Given the description of an element on the screen output the (x, y) to click on. 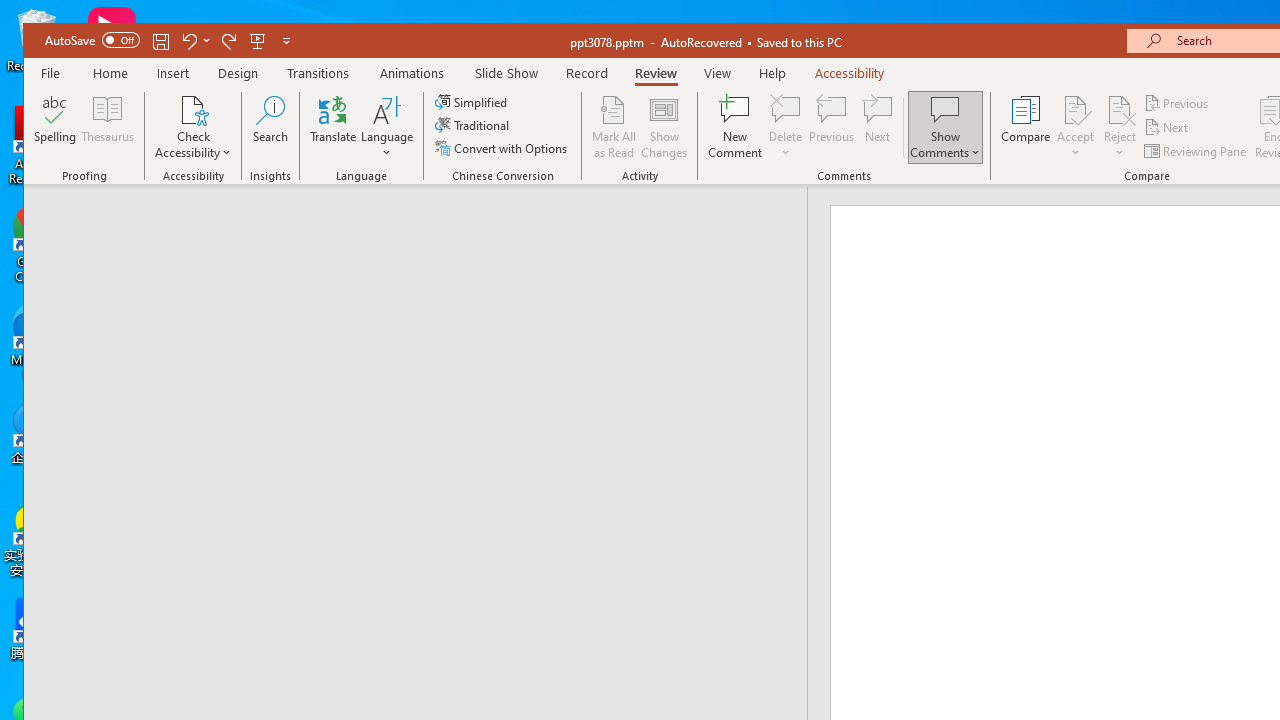
Convert with Options... (502, 147)
Delete (785, 127)
Review (655, 73)
Compare (1025, 127)
Language (387, 127)
Reviewing Pane (1196, 150)
Redo (229, 40)
Delete (785, 109)
Simplified (473, 101)
Next (1167, 126)
Insert (173, 73)
Design (237, 73)
From Beginning (257, 40)
